Given the description of an element on the screen output the (x, y) to click on. 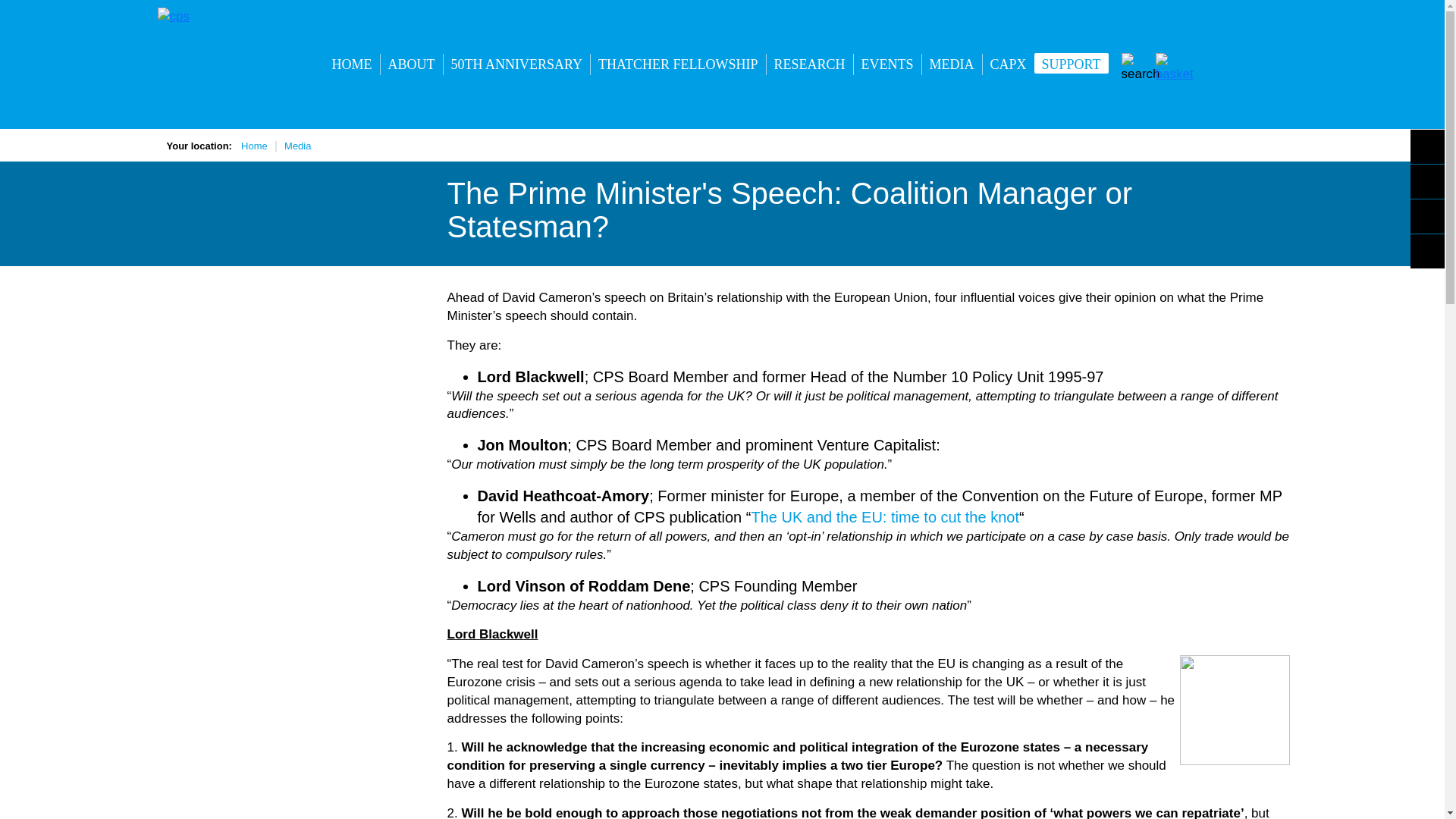
THATCHER FELLOWSHIP (678, 64)
MEDIA (951, 64)
Home (254, 145)
RESEARCH (810, 64)
HOME (352, 64)
Media (297, 145)
CAPX (1007, 64)
50TH ANNIVERSARY (515, 64)
EVENTS (887, 64)
ABOUT (411, 64)
